Given the description of an element on the screen output the (x, y) to click on. 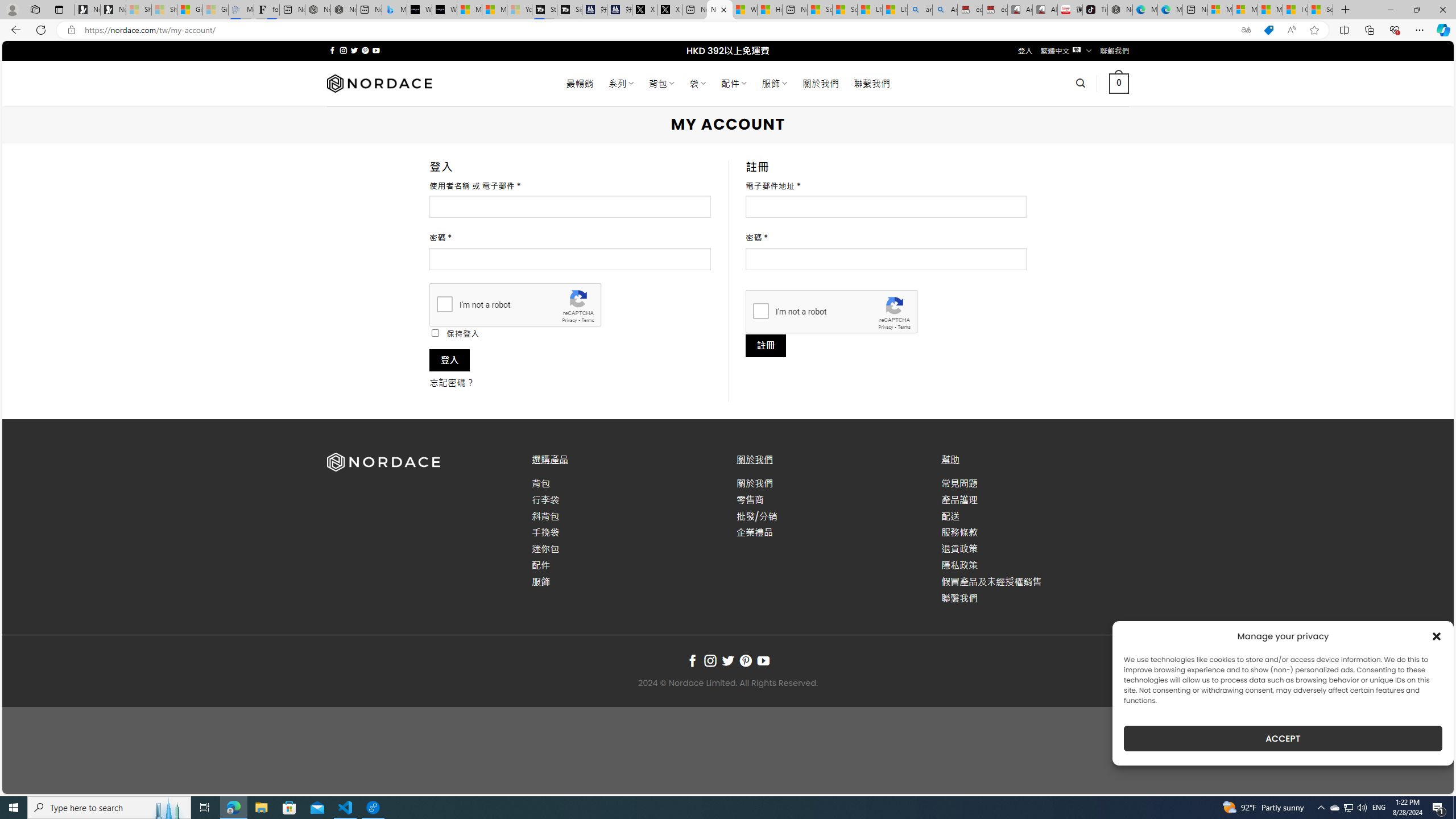
Show translate options (1245, 29)
Wildlife - MSN (744, 9)
Go to top (1430, 777)
Follow on Pinterest (745, 660)
amazon - Search (919, 9)
Class: cmplz-close (1436, 636)
